Given the description of an element on the screen output the (x, y) to click on. 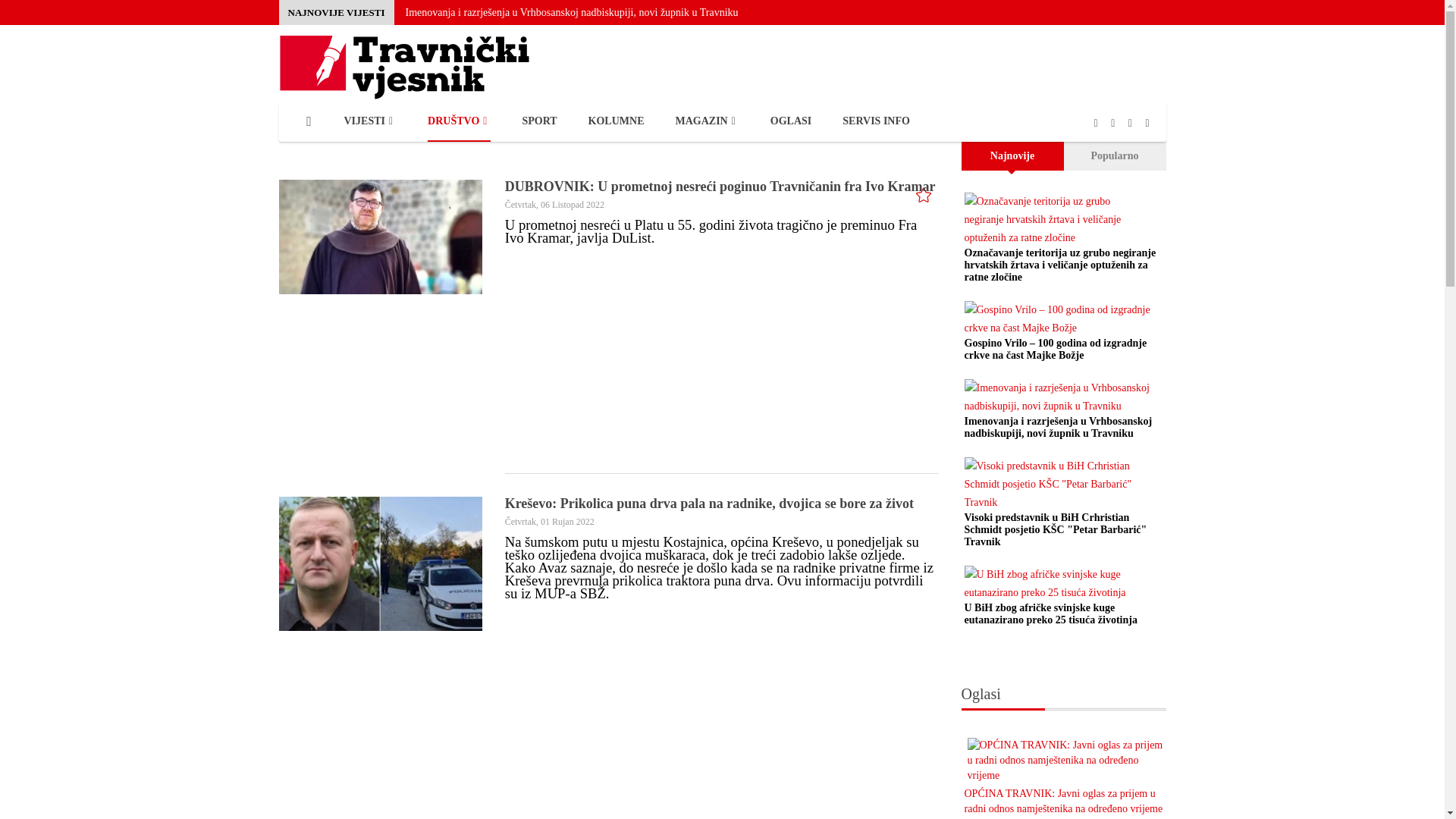
SPORT Element type: text (538, 121)
VIJESTI Element type: text (370, 121)
NASLOVNICA Element type: text (308, 121)
OGLASI Element type: text (790, 121)
SERVIS INFO Element type: text (876, 121)
KOLUMNE Element type: text (616, 121)
MAGAZIN Element type: text (706, 121)
Advertisement Element type: hover (822, 358)
